Given the description of an element on the screen output the (x, y) to click on. 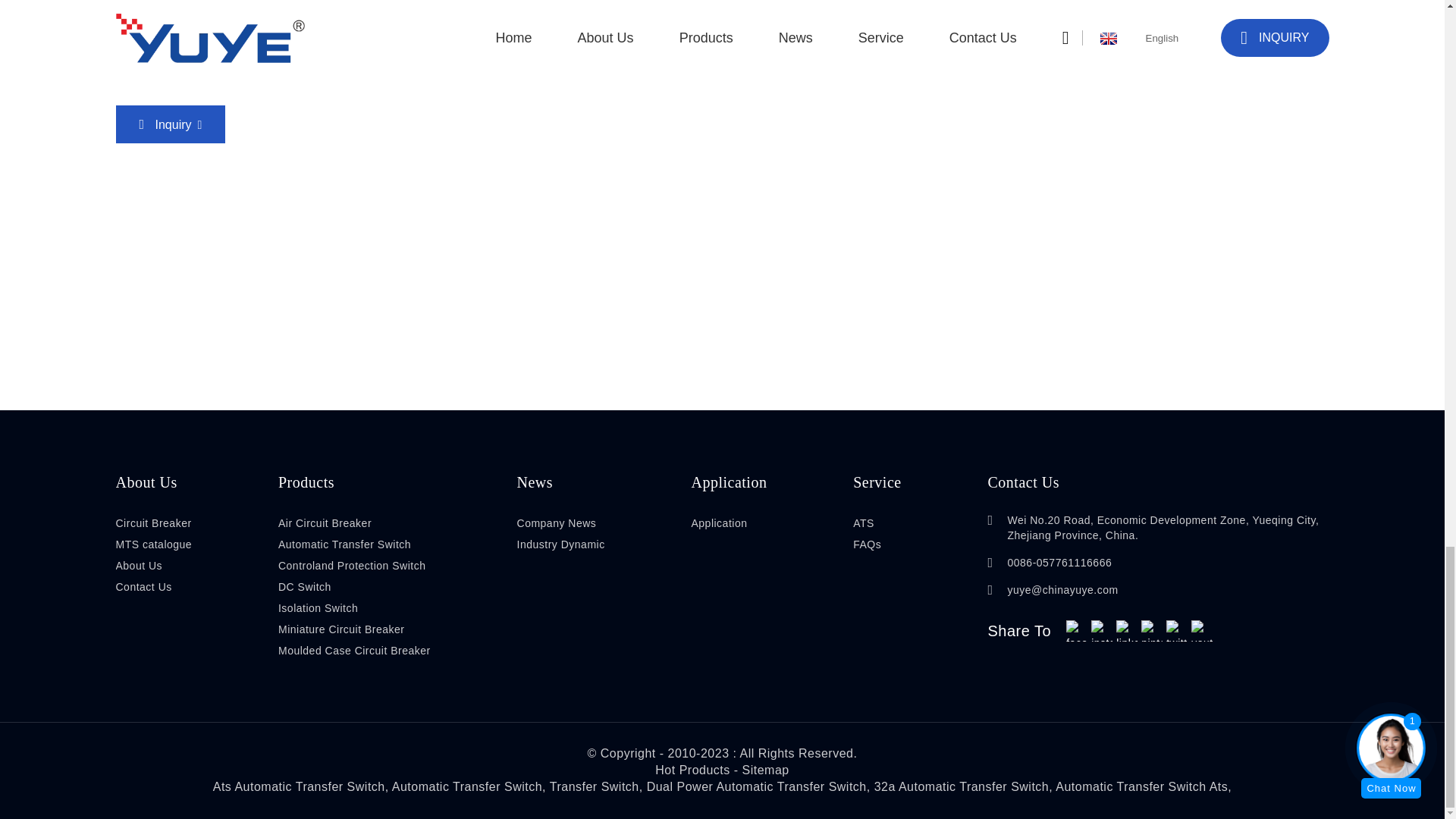
Dual Power Automatic Transfer Switch (756, 786)
32a Automatic Transfer Switch (962, 786)
Ats Automatic Transfer Switch (298, 786)
Automatic Transfer Switch (466, 786)
Automatic Transfer Switch Ats (1141, 786)
Transfer Switch (594, 786)
